Given the description of an element on the screen output the (x, y) to click on. 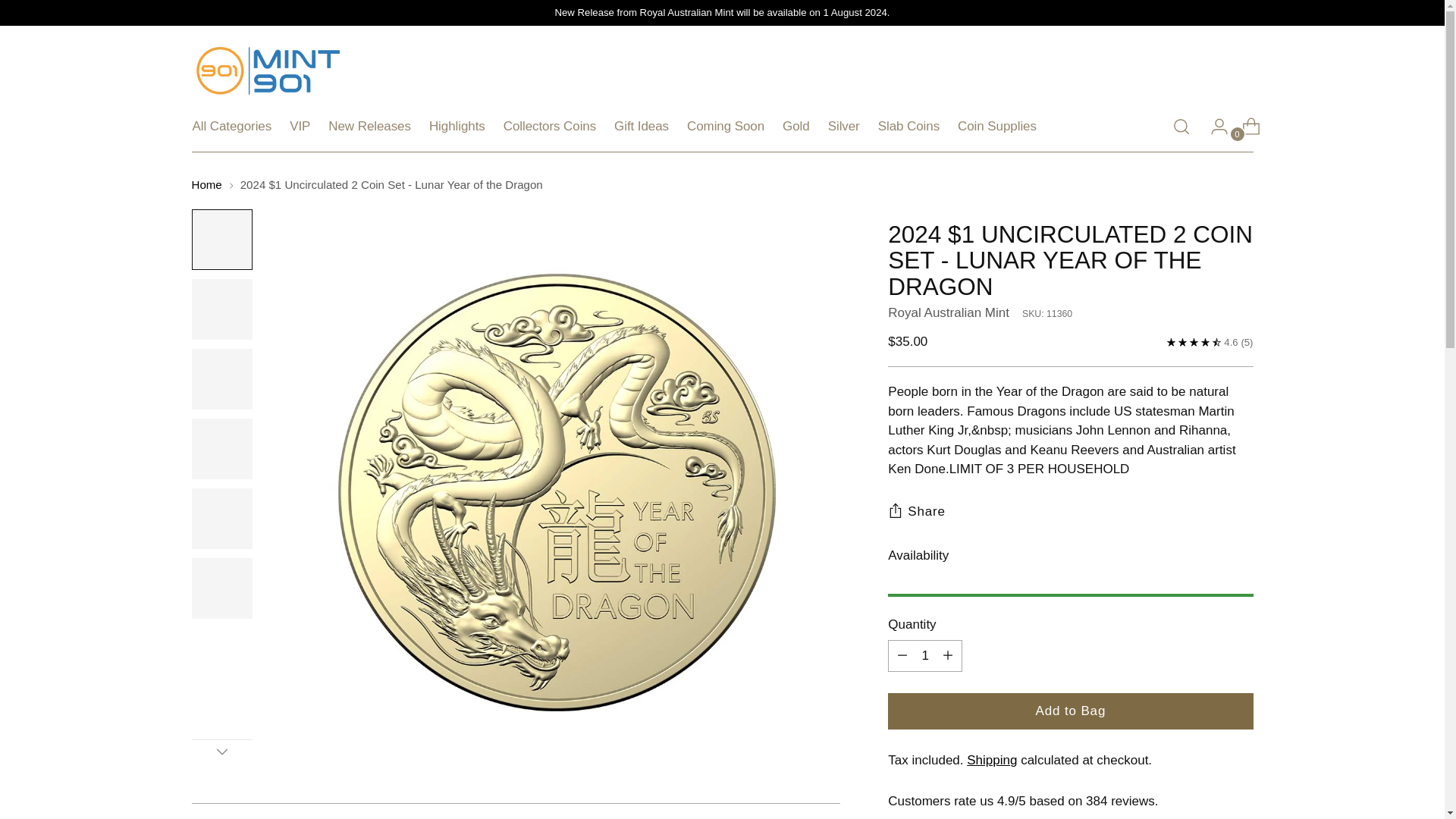
Collectors Coins (549, 126)
Silver (844, 126)
Slab Coins (908, 126)
VIP (299, 126)
Down (220, 751)
New Releases (369, 126)
Gift Ideas (641, 126)
Royal Australian Mint (948, 312)
Coin Supplies (997, 126)
1 (925, 655)
Gold (796, 126)
All Categories (232, 126)
Coming Soon (725, 126)
Highlights (456, 126)
